Given the description of an element on the screen output the (x, y) to click on. 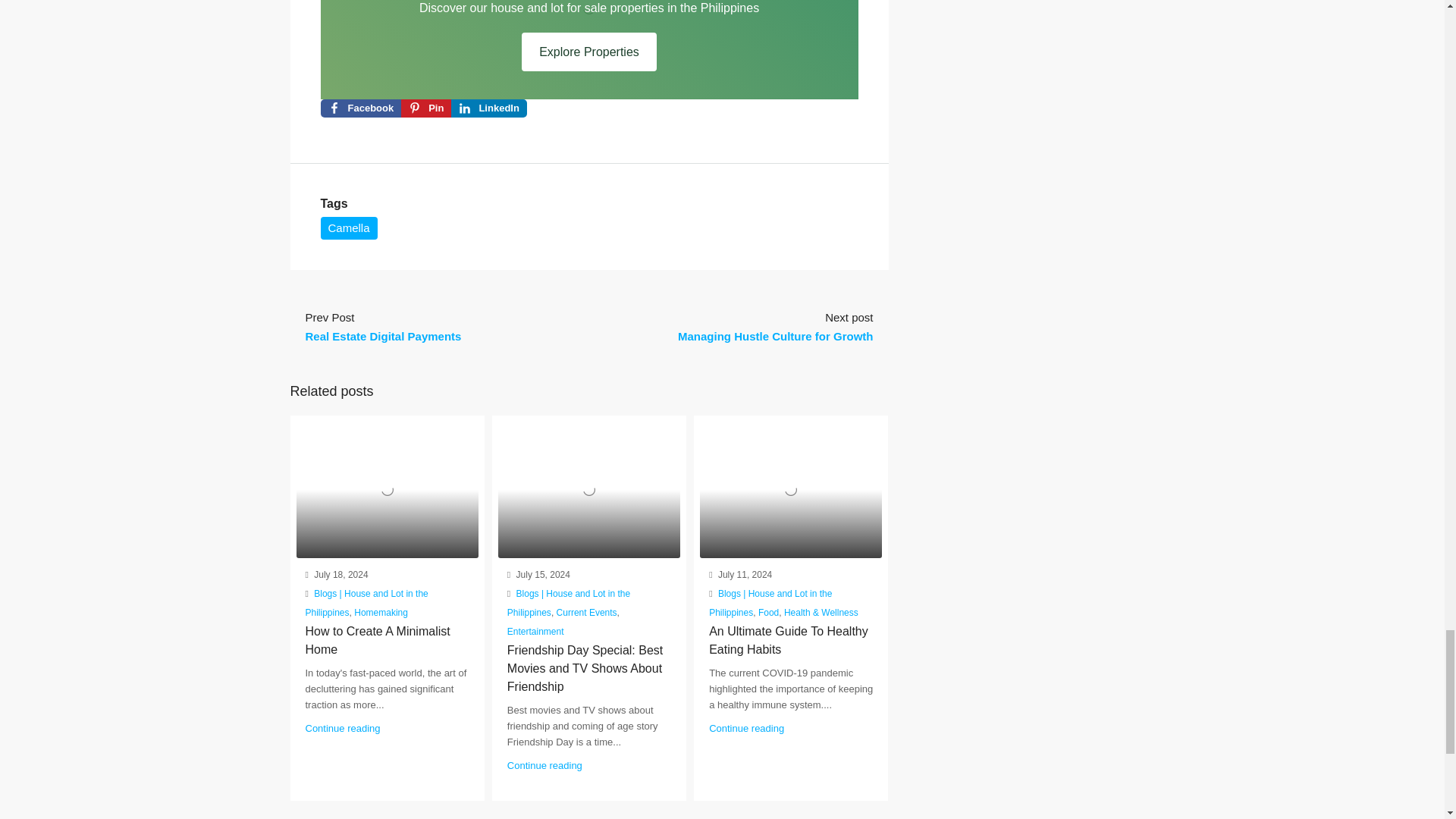
Share on LinkedIn (488, 108)
Share on Facebook (360, 108)
Share on Pinterest (426, 108)
